Given the description of an element on the screen output the (x, y) to click on. 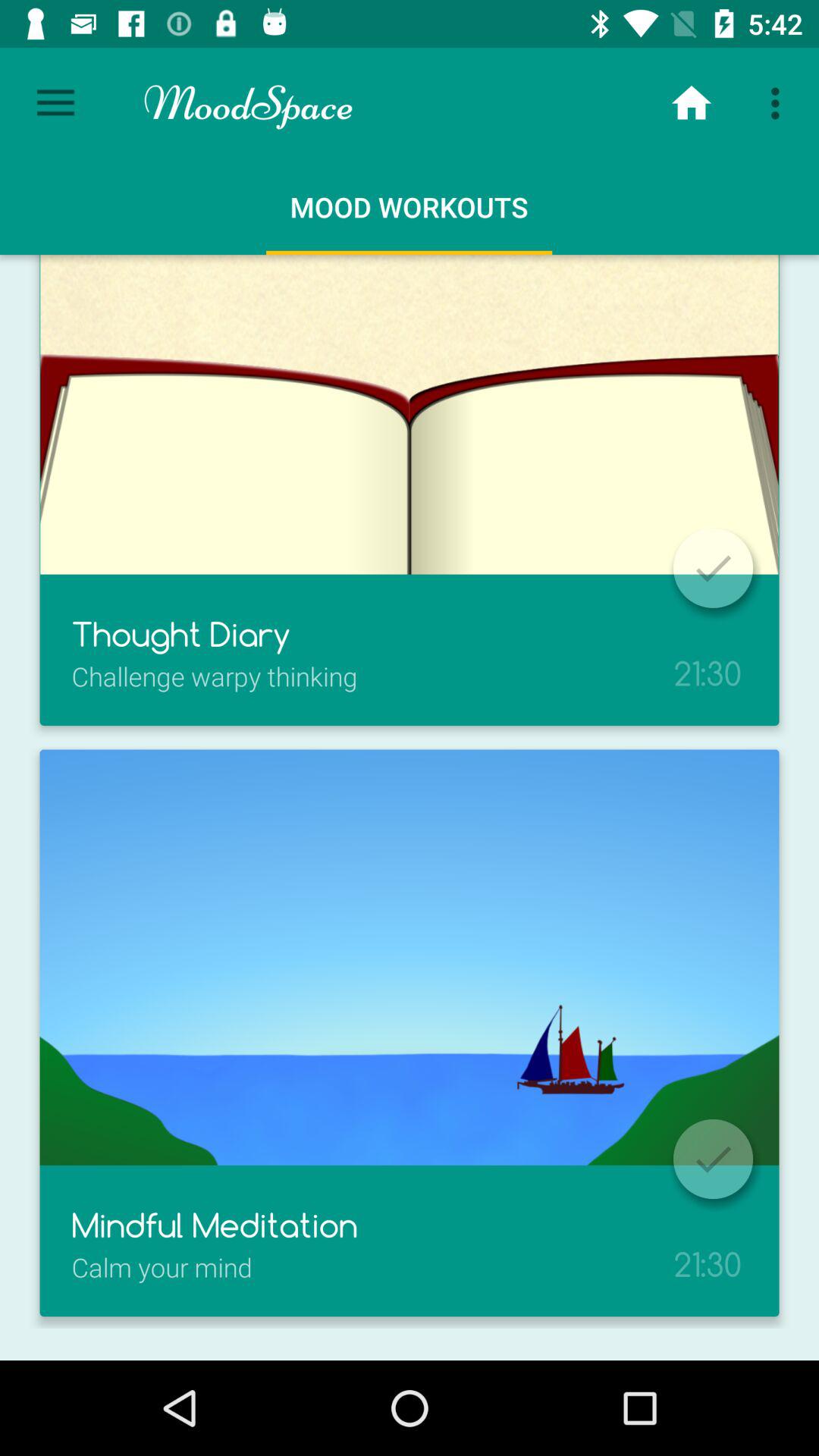
select 2130 (707, 1244)
click on the home icon (691, 103)
select the second image (409, 957)
select the icon which is just above 2130 (713, 1158)
click on the first image of mood workouts (409, 496)
select the second option under mood workouts (409, 1033)
